Given the description of an element on the screen output the (x, y) to click on. 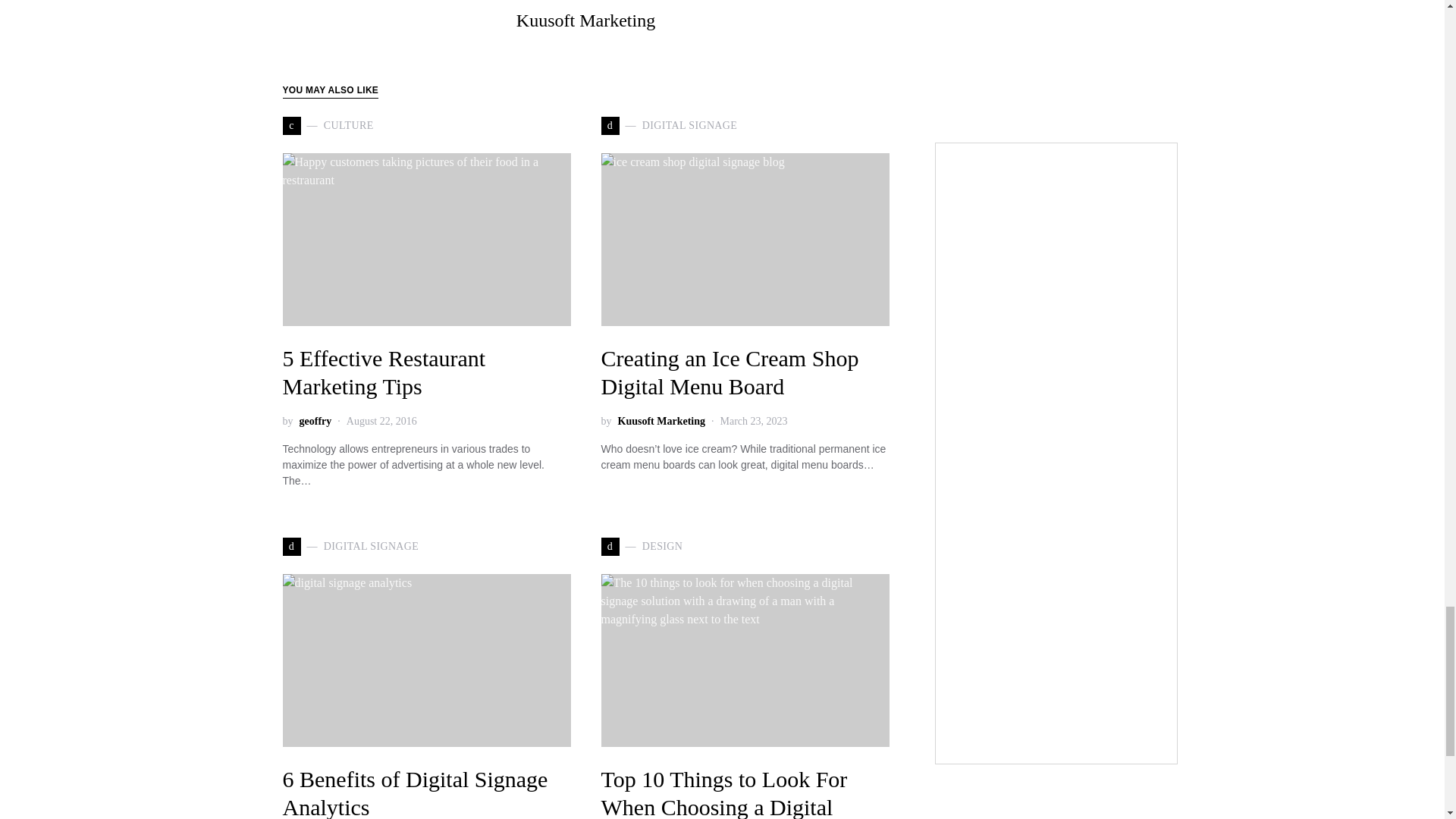
View all posts by geoffry (314, 421)
View all posts by Kuusoft Marketing (660, 421)
